Given the description of an element on the screen output the (x, y) to click on. 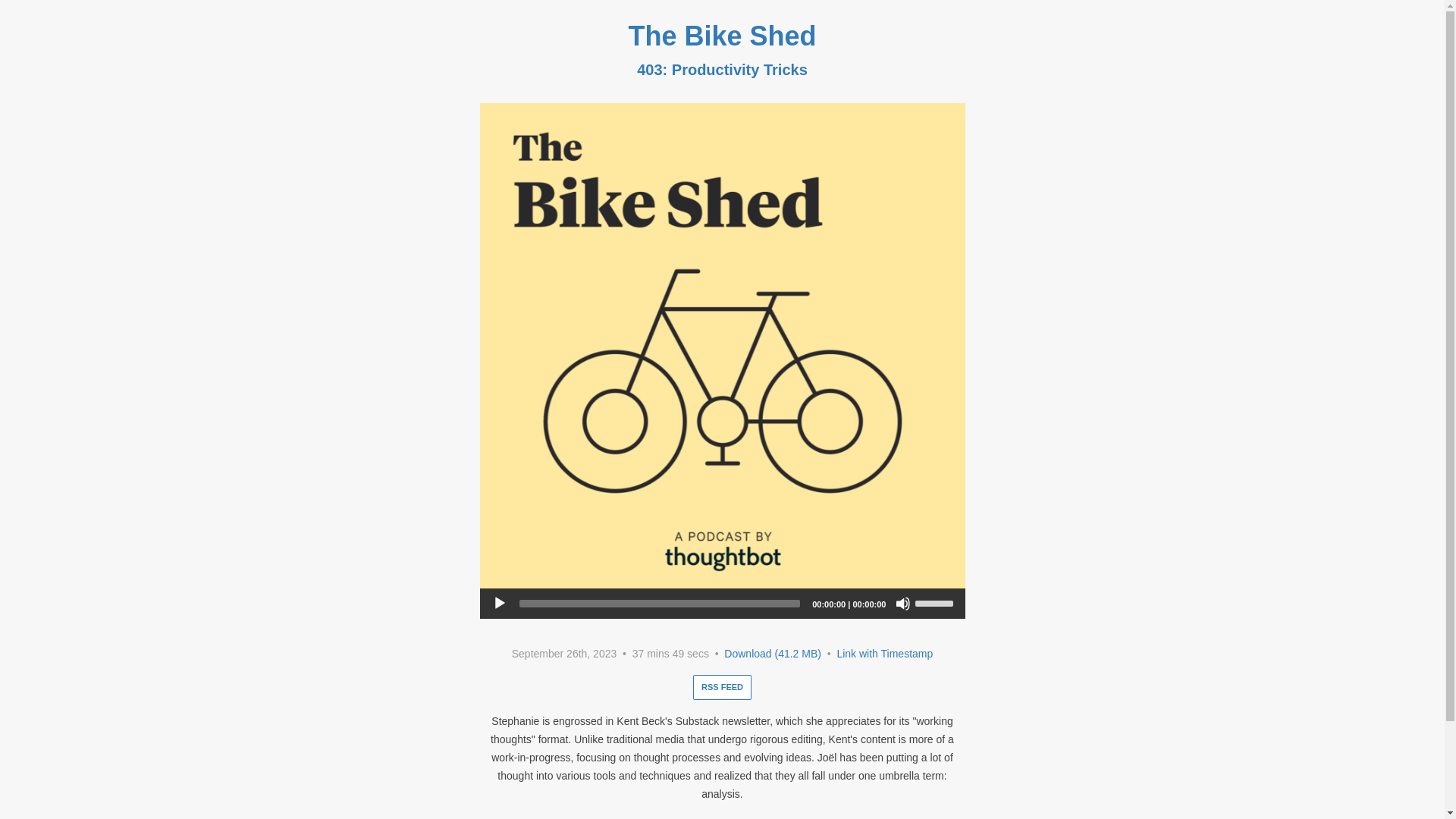
403: Productivity Tricks (722, 69)
Link with Timestamp (884, 653)
The Bike Shed (721, 35)
Play (499, 603)
Mute (902, 603)
RSS FEED (722, 687)
